Given the description of an element on the screen output the (x, y) to click on. 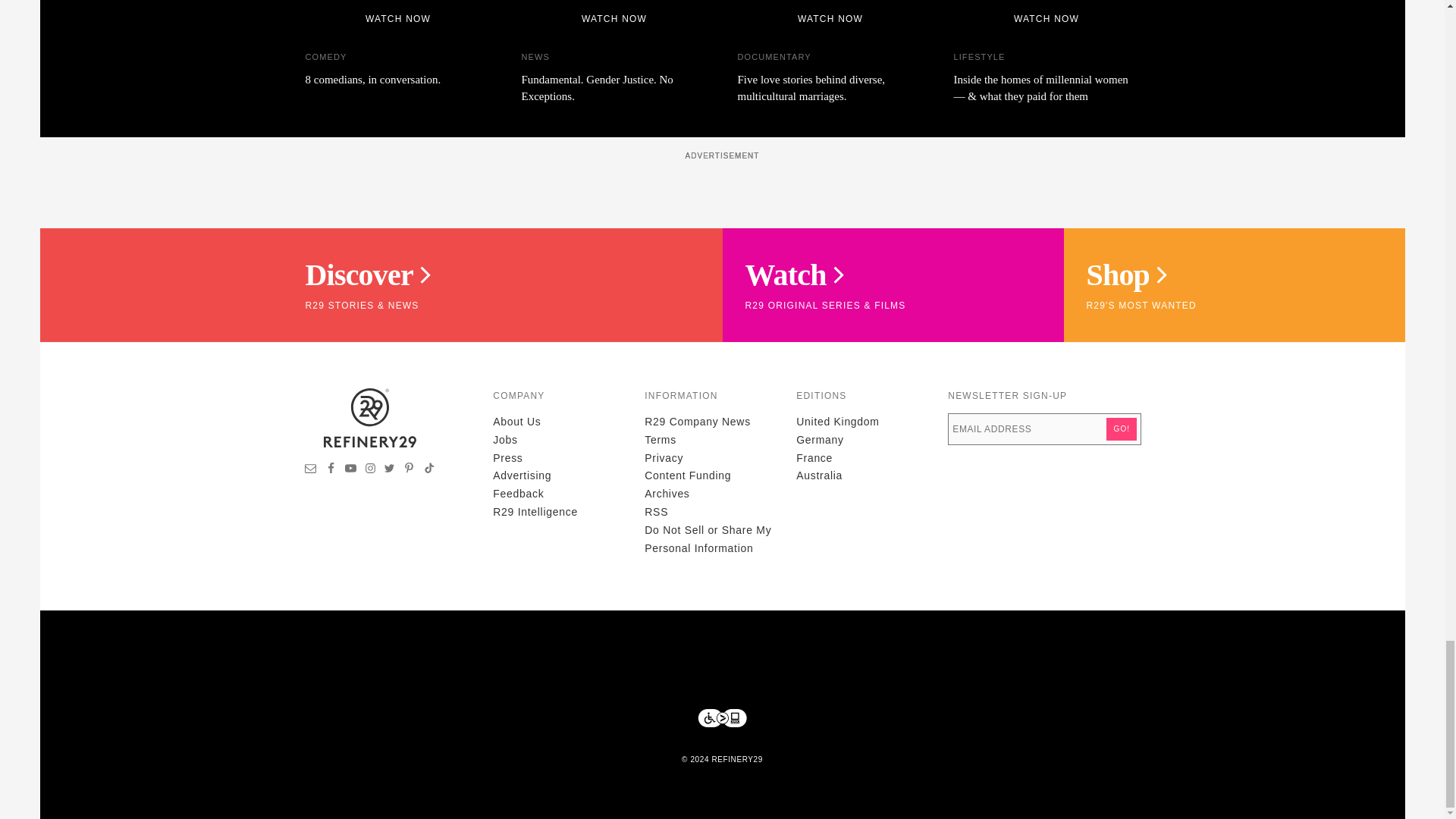
Visit Refinery29 on YouTube (350, 469)
Sign up for newsletters (310, 469)
Visit Refinery29 on TikTok (428, 469)
